Given the description of an element on the screen output the (x, y) to click on. 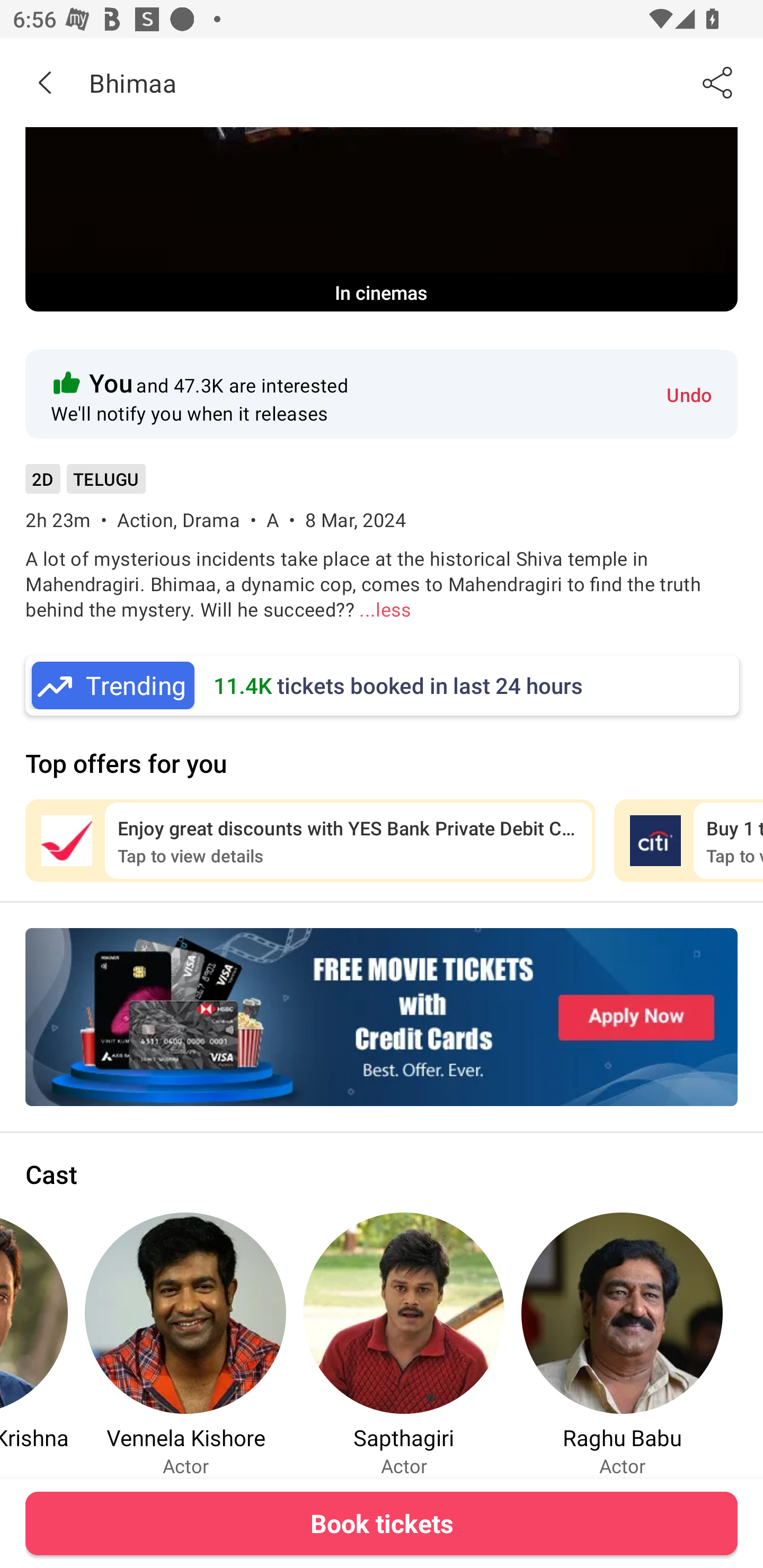
Back (44, 82)
Share (718, 82)
Movie Banner In cinemas (381, 219)
Undo (688, 394)
2D TELUGU (85, 485)
Vennela Kishore Actor (185, 1344)
Sapthagiri Actor (403, 1344)
Raghu Babu Actor (621, 1344)
Book tickets (381, 1523)
